Given the description of an element on the screen output the (x, y) to click on. 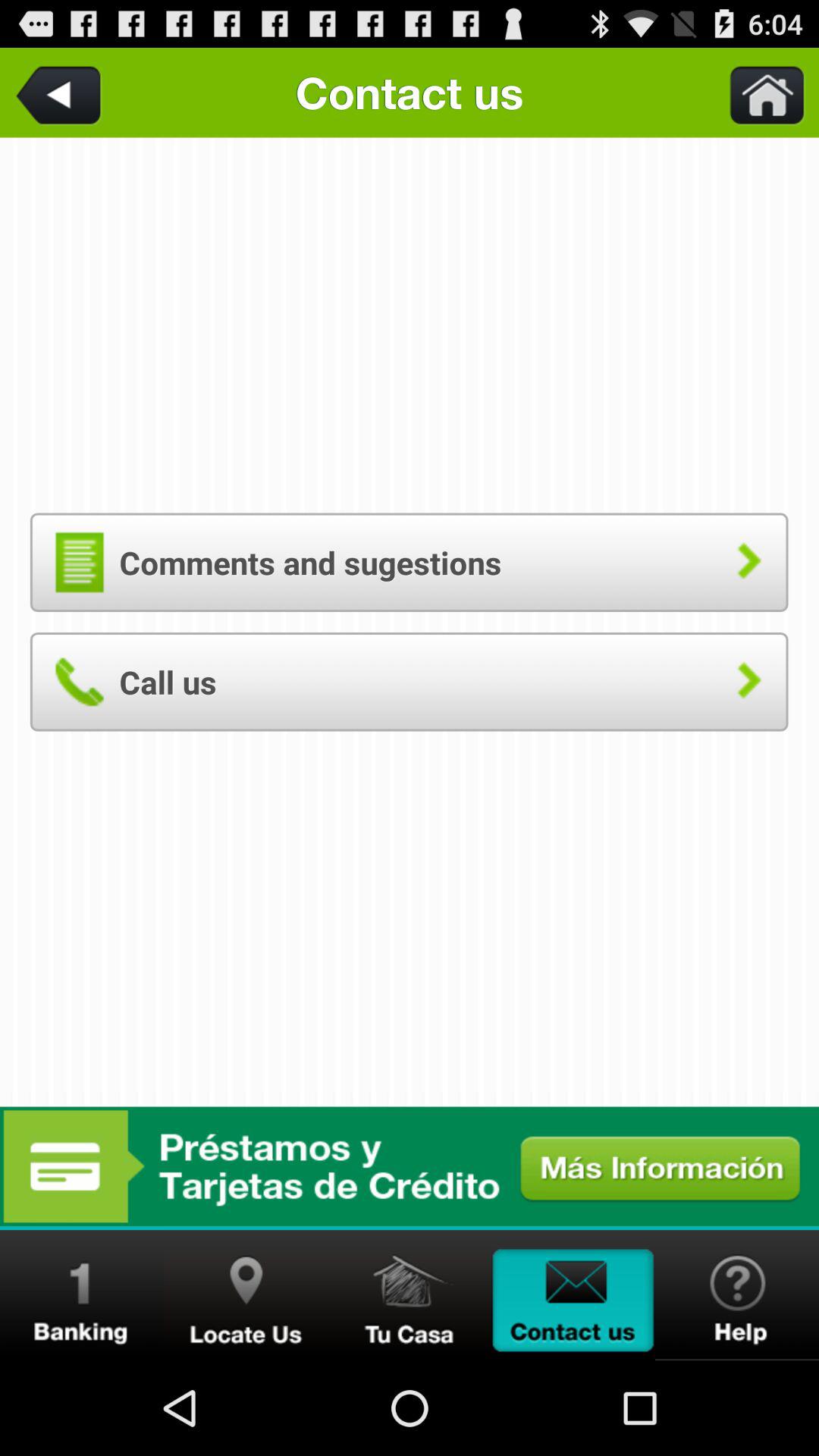
press icon below the comments and sugestions button (409, 681)
